Given the description of an element on the screen output the (x, y) to click on. 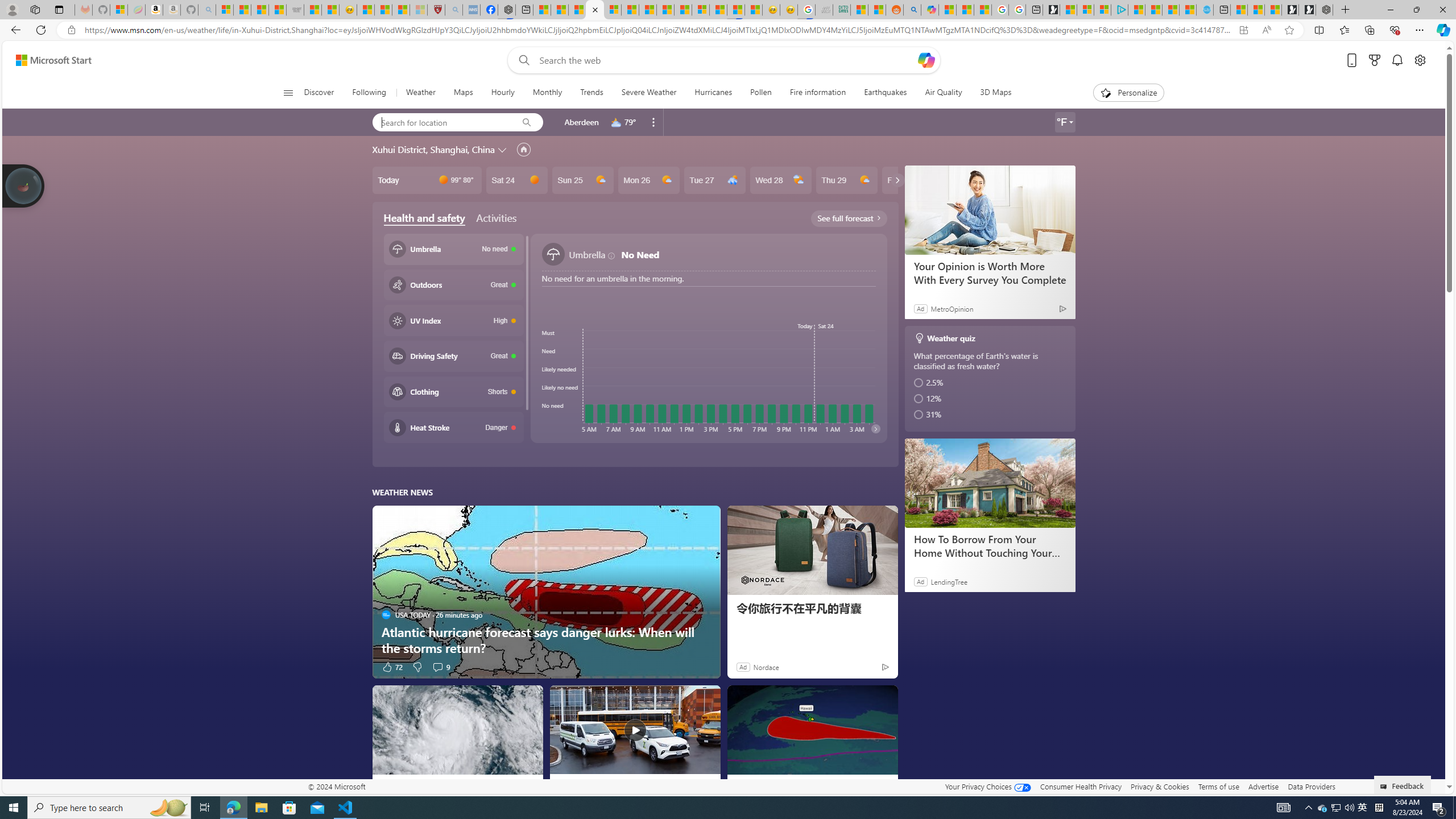
Your Privacy Choices (987, 785)
Class: lifeBarCoverdLink-DS-EntryPoint1-1 (634, 334)
Pollen (760, 92)
Severe Weather (649, 92)
Ride with Experts (988, 272)
Stocks - MSN (277, 9)
Microsoft account | Privacy (1102, 9)
31% (990, 414)
Microsoft-Report a Concern to Bing (118, 9)
How To Borrow From Your Home Without Touching Your Mortgage (988, 545)
Health and safety (423, 218)
Data Providers (1311, 786)
